Given the description of an element on the screen output the (x, y) to click on. 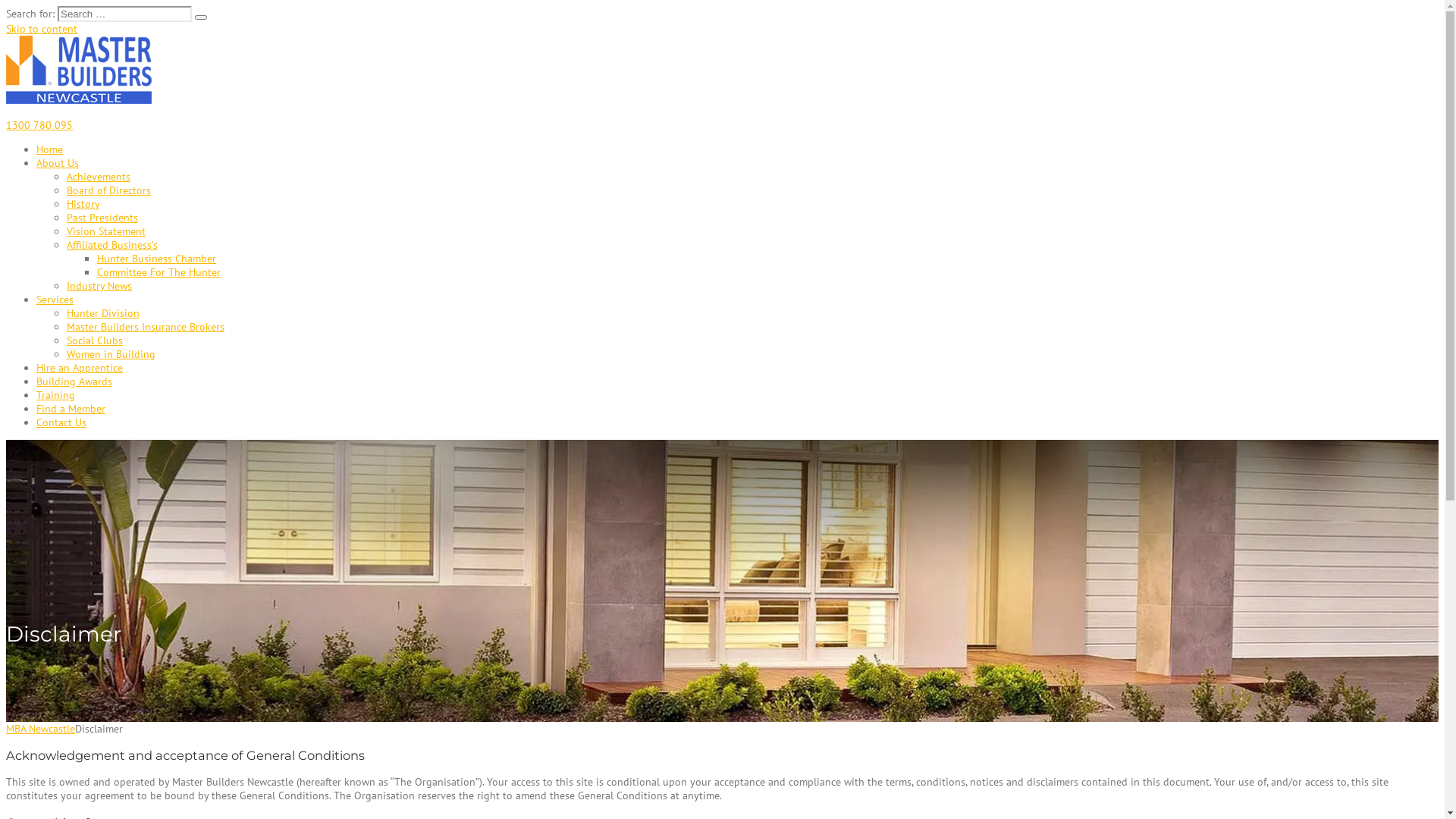
MBA Newcastle Element type: text (40, 728)
Board of Directors Element type: text (108, 190)
Achievements Element type: text (98, 176)
Training Element type: text (55, 394)
Vision Statement Element type: text (105, 231)
1300 780 095 Element type: text (39, 124)
Home Element type: text (49, 149)
Social Clubs Element type: text (94, 340)
Services Element type: text (54, 299)
Hunter Business Chamber Element type: text (156, 258)
Building Awards Element type: text (74, 381)
Committee For The Hunter Element type: text (158, 272)
Search for: Element type: hover (124, 13)
Master Builders Insurance Brokers Element type: text (145, 326)
About Us Element type: text (57, 162)
Hunter Division Element type: text (102, 313)
Find a Member Element type: text (70, 408)
Contact Us Element type: text (61, 422)
Skip to content Element type: text (41, 28)
Past Presidents Element type: text (102, 217)
Industry News Element type: text (98, 285)
History Element type: text (83, 203)
MBA Newcastle Element type: hover (78, 99)
Women in Building Element type: text (110, 353)
Hire an Apprentice Element type: text (79, 367)
